Given the description of an element on the screen output the (x, y) to click on. 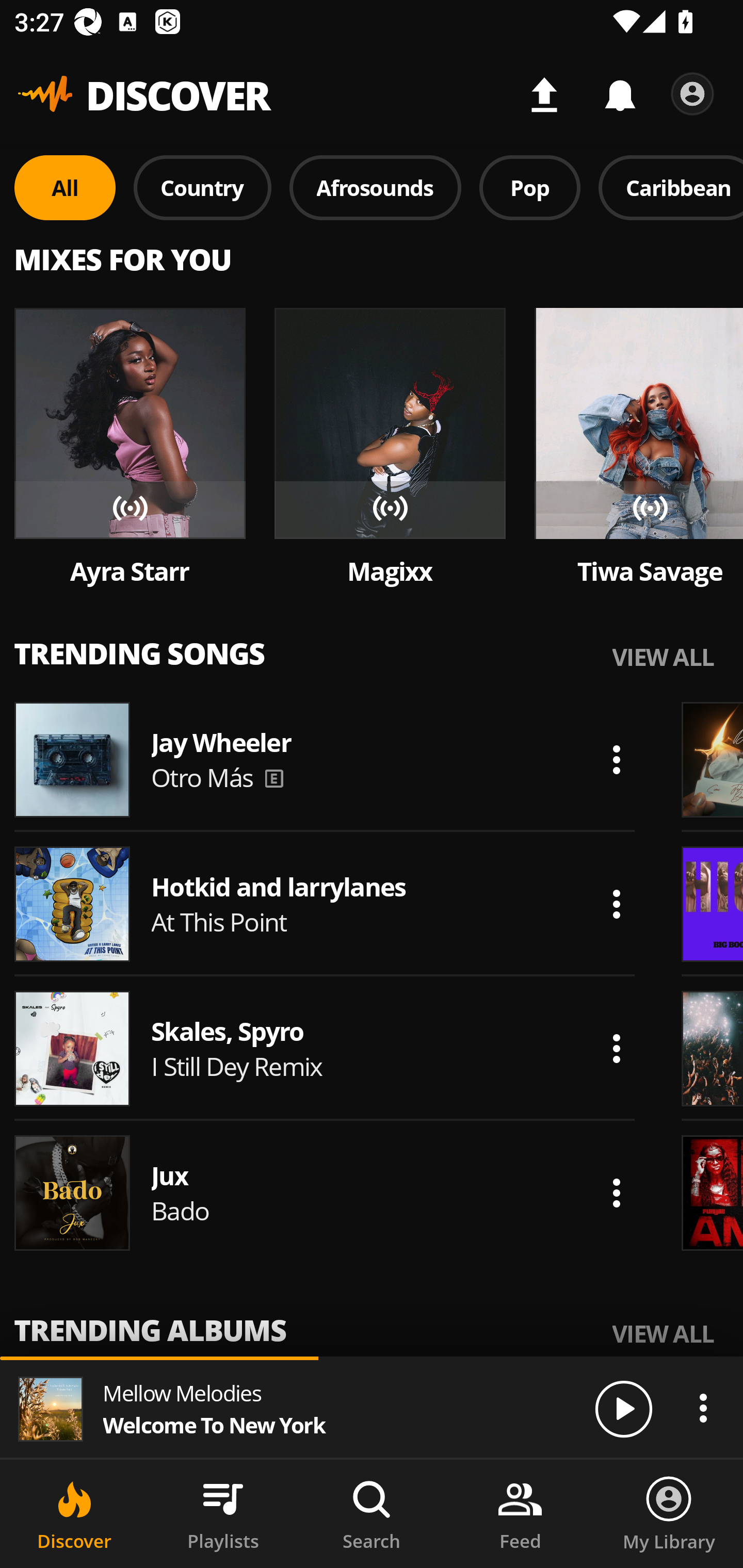
Settings (692, 94)
All (64, 187)
Country (202, 187)
Afrosounds (375, 187)
Pop (529, 187)
Caribbean (670, 187)
Song artwork Song artwork Song artwork Ayra Starr (129, 447)
Song artwork Song artwork Song artwork Magixx (389, 447)
Song artwork Song artwork Song artwork Tiwa Savage (638, 447)
VIEW ALL (663, 655)
Song artwork Jay Wheeler Otro Más    Actions (324, 759)
Actions (616, 759)
Actions (616, 903)
Actions (616, 1048)
Song artwork Jux Bado Actions (324, 1193)
Actions (616, 1193)
VIEW ALL (663, 1333)
Actions (703, 1407)
Play/Pause (623, 1408)
Discover (74, 1513)
Playlists (222, 1513)
Search (371, 1513)
Feed (519, 1513)
My Library (668, 1513)
